Given the description of an element on the screen output the (x, y) to click on. 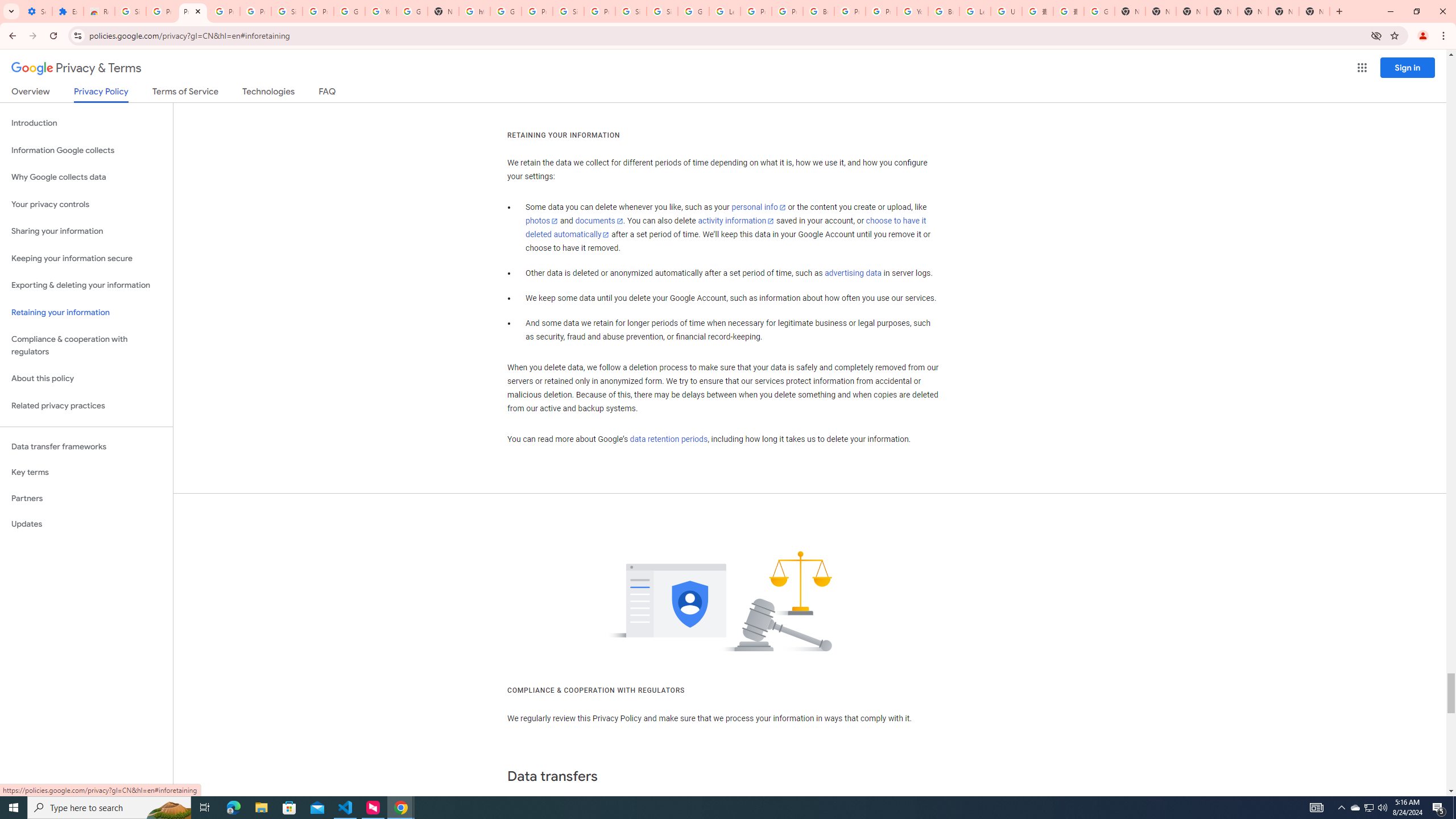
documents (599, 221)
Sign in - Google Accounts (286, 11)
Partners (86, 497)
Google Account (349, 11)
Exporting & deleting your information (86, 284)
New Tab (1314, 11)
